Given the description of an element on the screen output the (x, y) to click on. 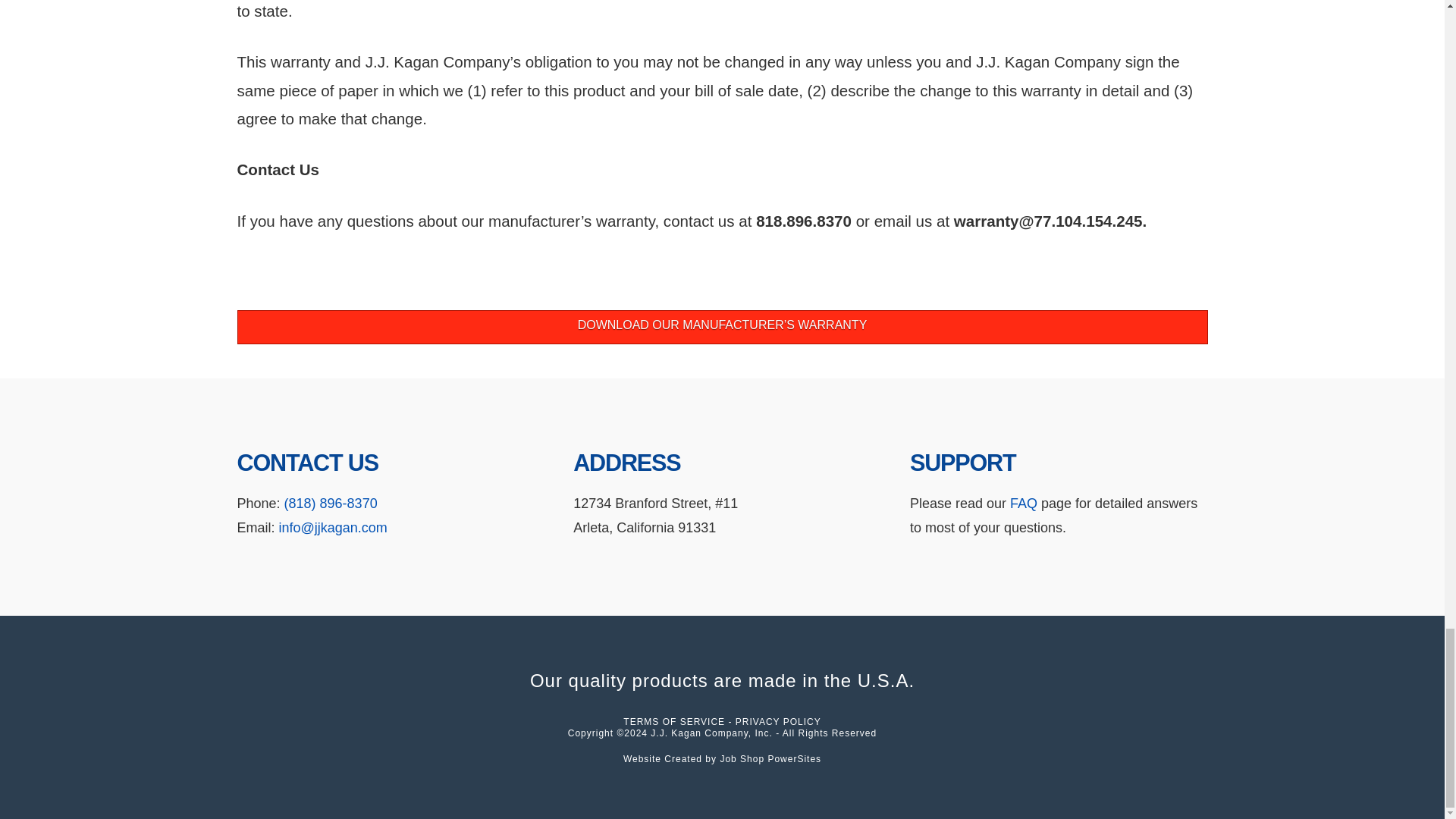
FAQ (1023, 503)
Job Shop PowerSites (770, 758)
TERMS OF SERVICE (674, 721)
PRIVACY POLICY (778, 721)
